Given the description of an element on the screen output the (x, y) to click on. 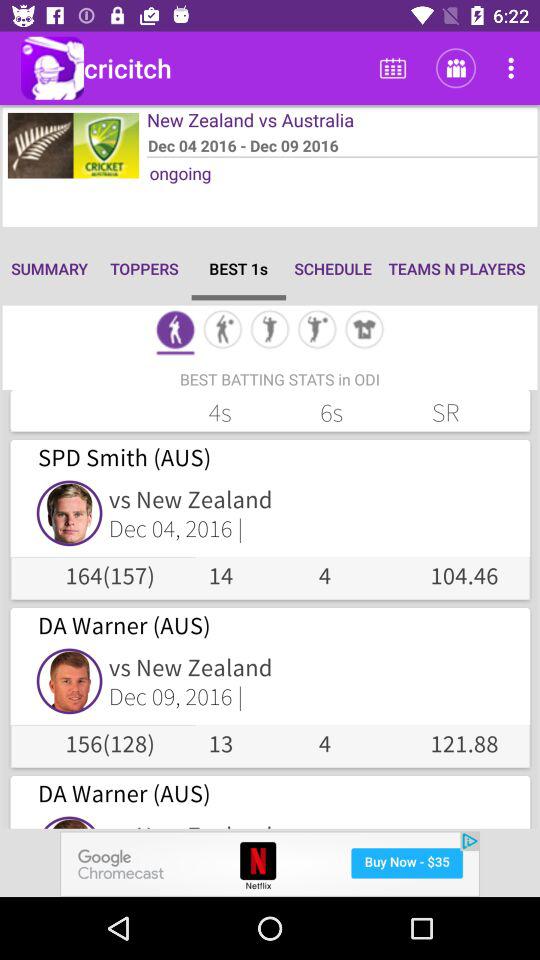
advertising (270, 864)
